Given the description of an element on the screen output the (x, y) to click on. 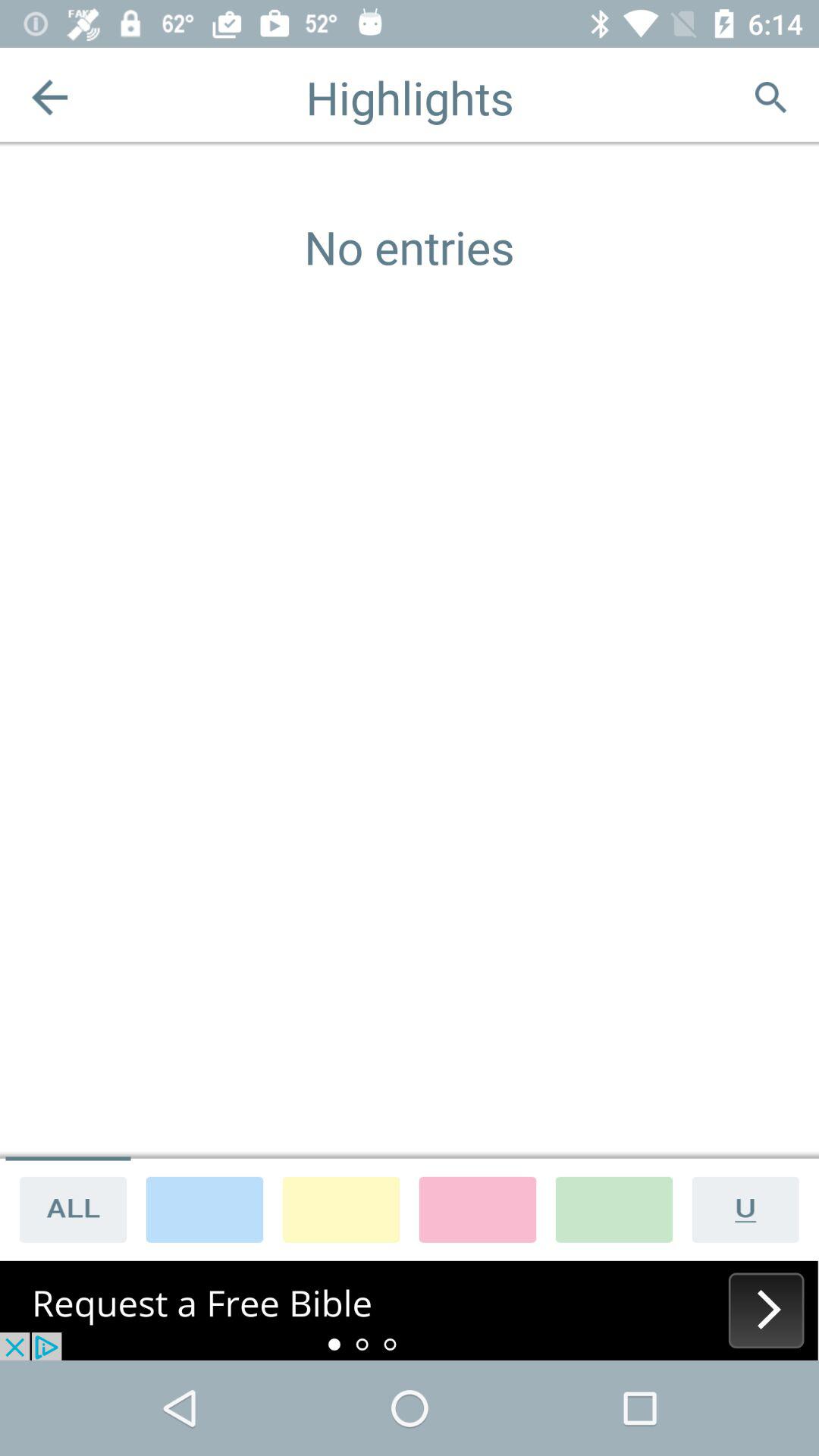
its an advertisement (409, 1310)
